Given the description of an element on the screen output the (x, y) to click on. 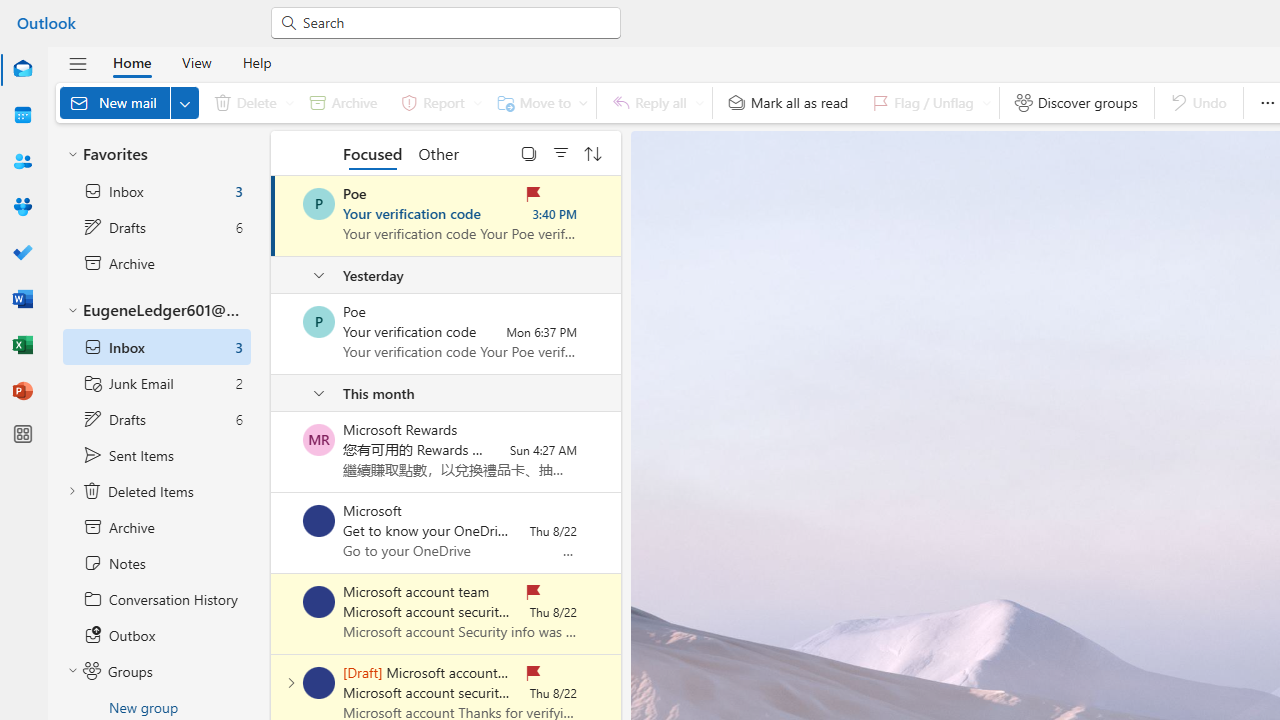
System (10, 11)
Archive (343, 102)
Filter (561, 152)
Search for email, meetings, files and more. (454, 21)
Expand to see flag options (985, 102)
New mail (129, 102)
Junk Email 2 items (156, 383)
Mark all as read (788, 102)
Archive (156, 527)
Calendar (22, 115)
Outbox (156, 635)
To Do (22, 254)
Home (132, 61)
